Given the description of an element on the screen output the (x, y) to click on. 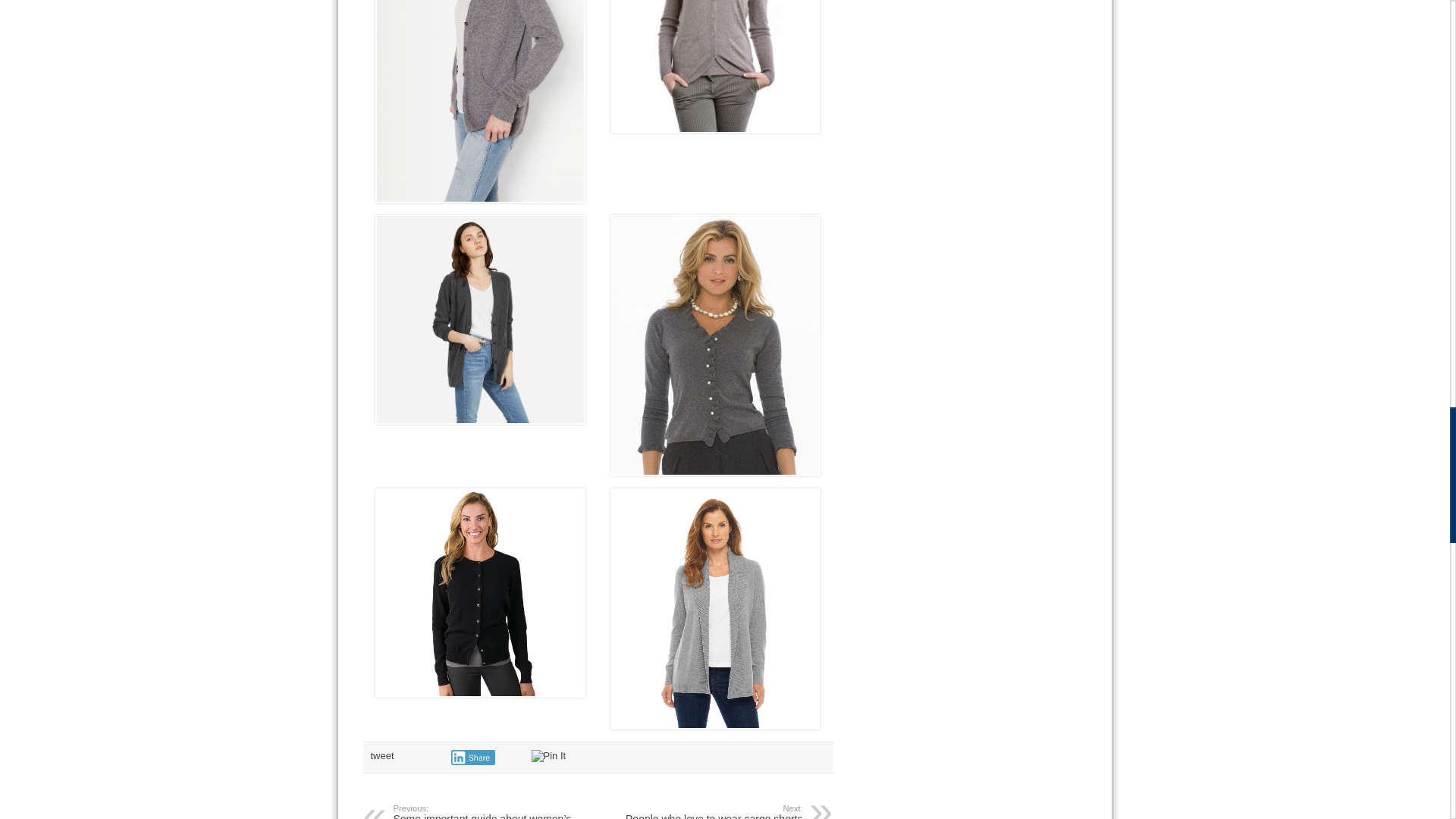
tweet (381, 755)
Share (710, 811)
Pin It (472, 757)
